Given the description of an element on the screen output the (x, y) to click on. 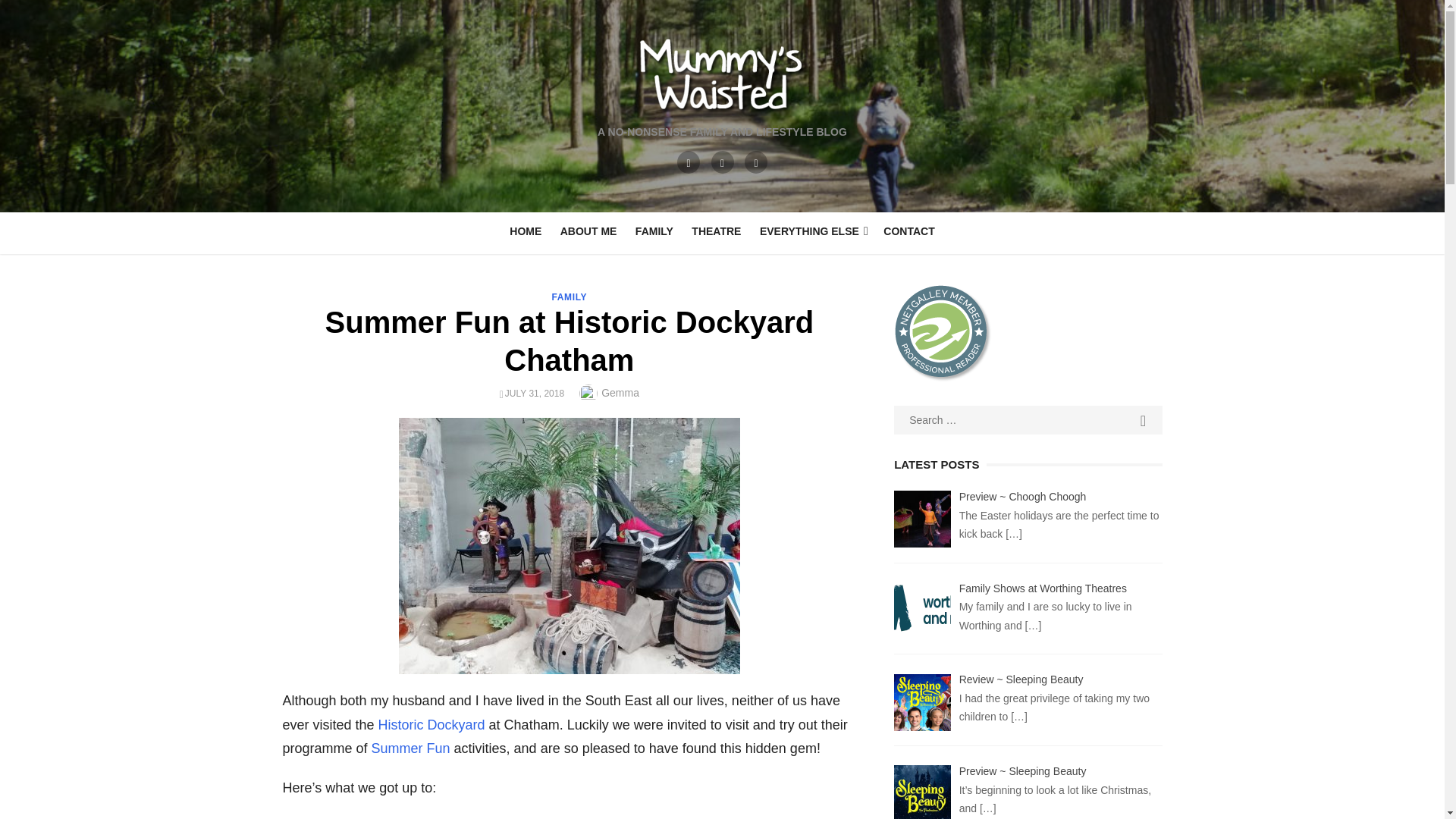
CONTACT (909, 231)
ABOUT ME (588, 231)
Summer Fun (410, 748)
JULY 31, 2018 (534, 393)
Gemma (620, 392)
EVERYTHING ELSE (812, 231)
HOME (525, 231)
Historic Dockyard (431, 724)
FAMILY (654, 231)
THEATRE (716, 231)
FAMILY (569, 296)
